Given the description of an element on the screen output the (x, y) to click on. 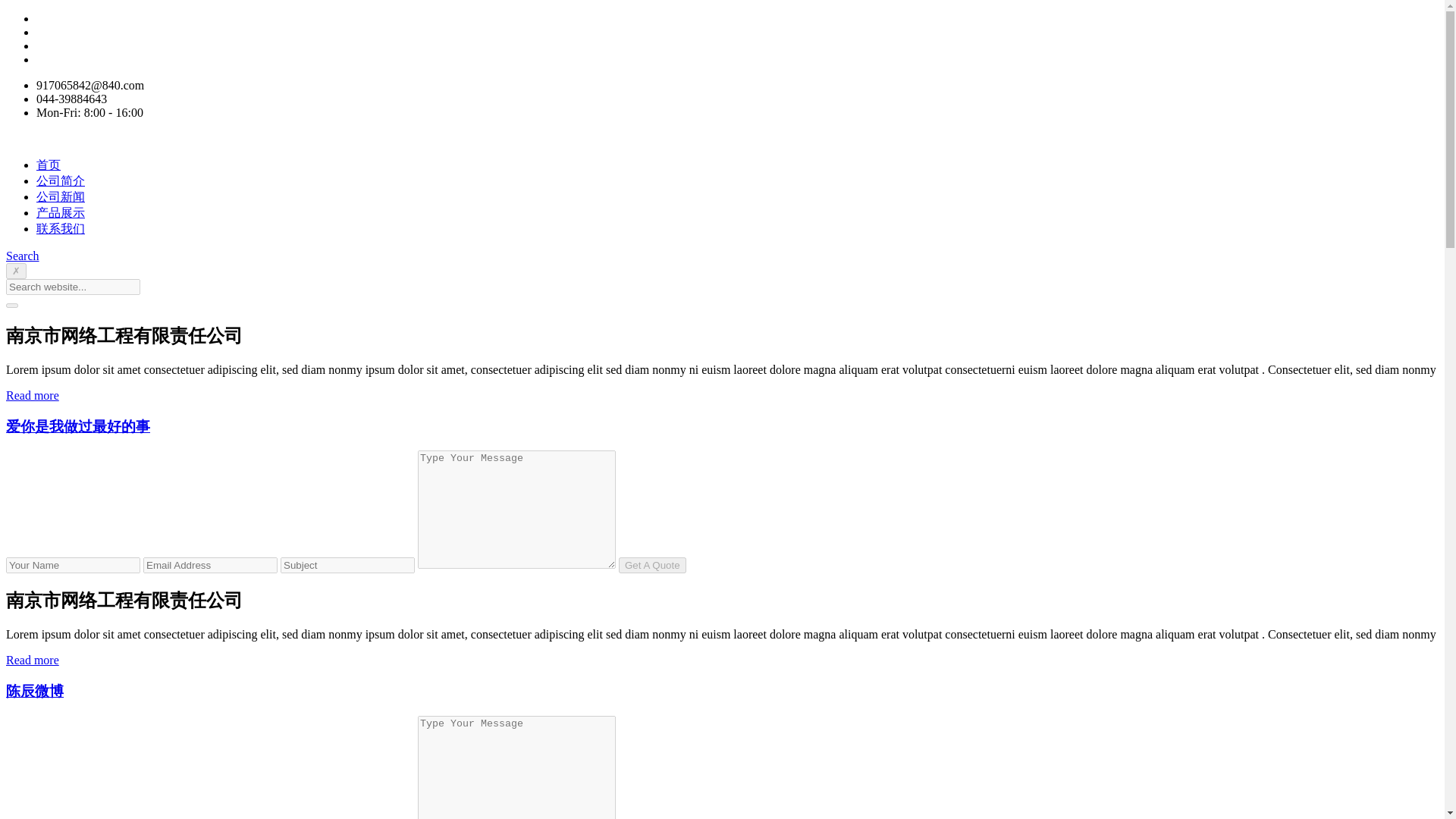
Search (22, 255)
Read more (32, 395)
Read more (32, 659)
Get A Quote (651, 565)
Get A Quote (651, 565)
